Given the description of an element on the screen output the (x, y) to click on. 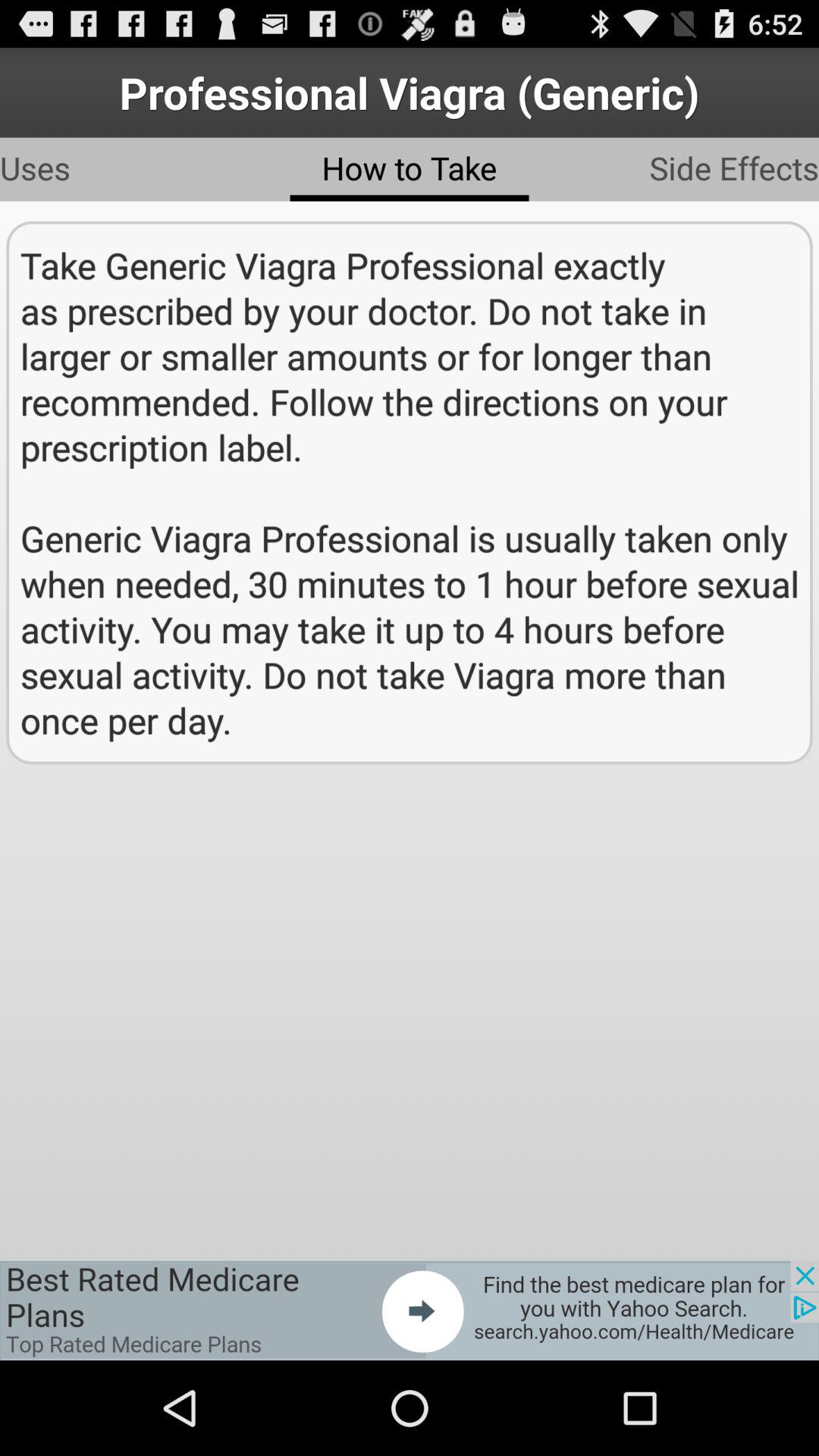
open advertisement (409, 1310)
